Given the description of an element on the screen output the (x, y) to click on. 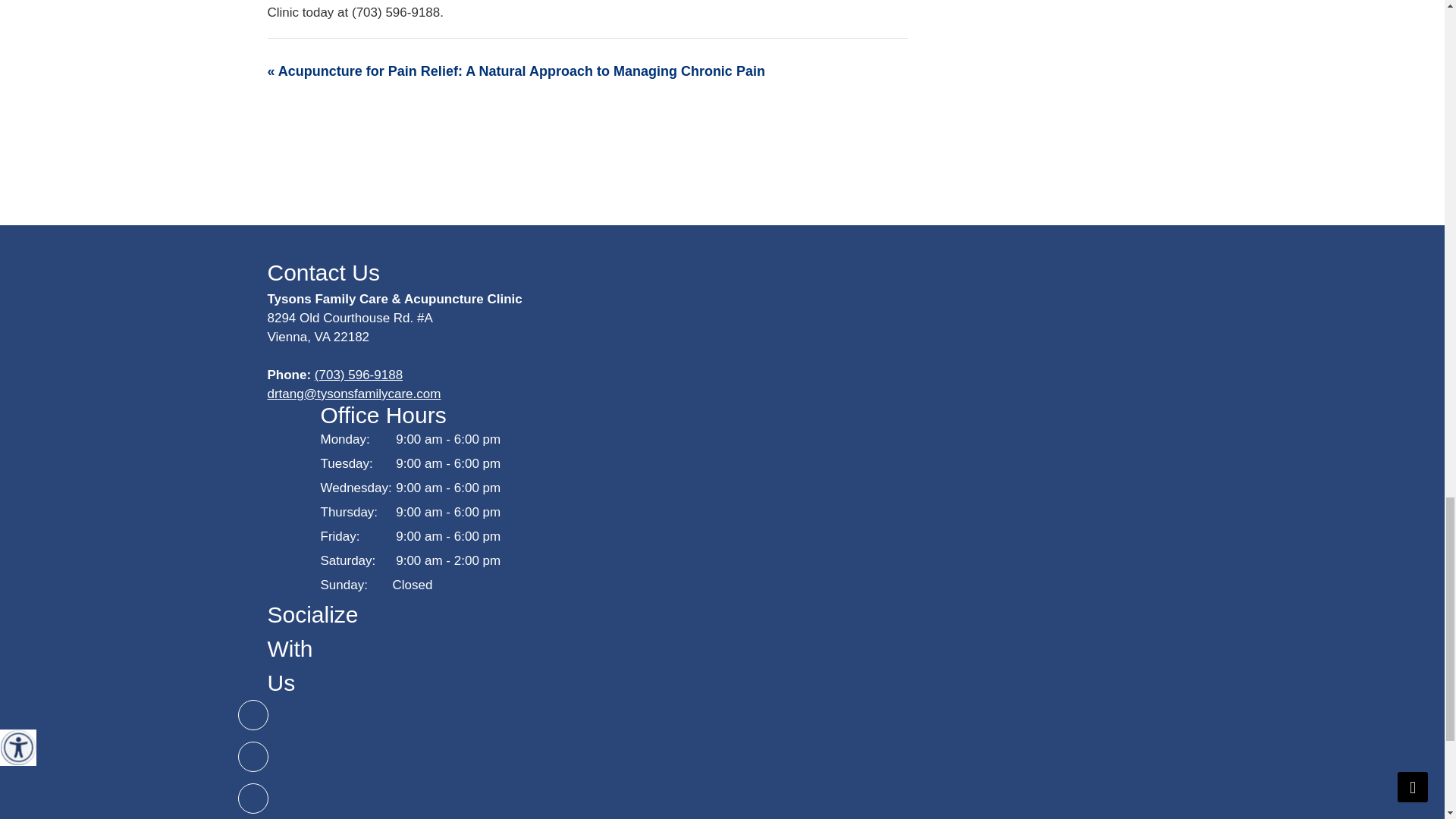
Facebook (252, 757)
Yelp (252, 798)
Google My Business (252, 715)
